Given the description of an element on the screen output the (x, y) to click on. 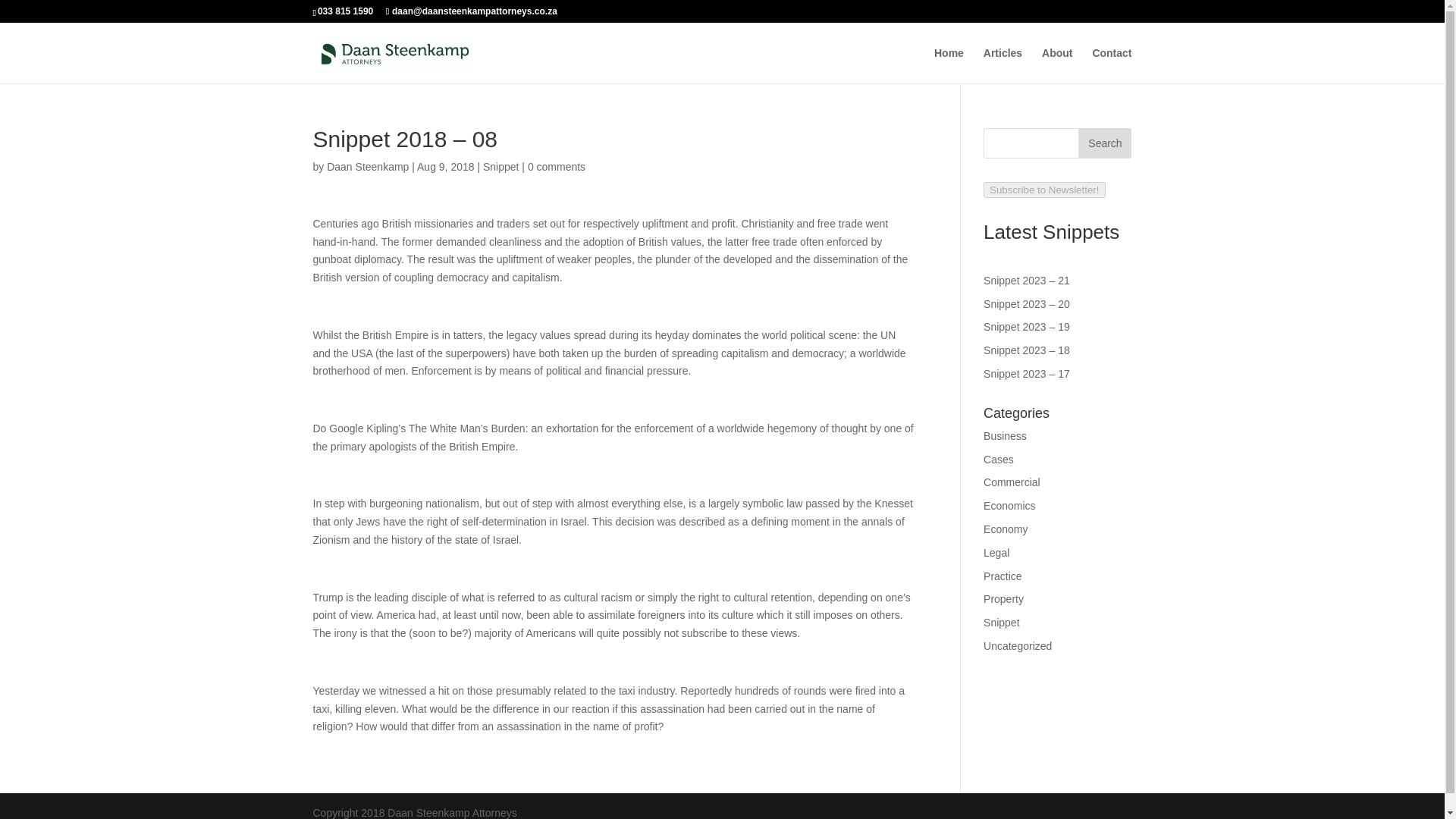
Search (1104, 142)
Practice (1003, 576)
Property (1003, 598)
Uncategorized (1017, 645)
Commercial (1012, 481)
Articles (1003, 65)
Subscribe to Newsletter! (1044, 189)
Daan Steenkamp (367, 166)
Contact (1111, 65)
Economics (1009, 505)
